Given the description of an element on the screen output the (x, y) to click on. 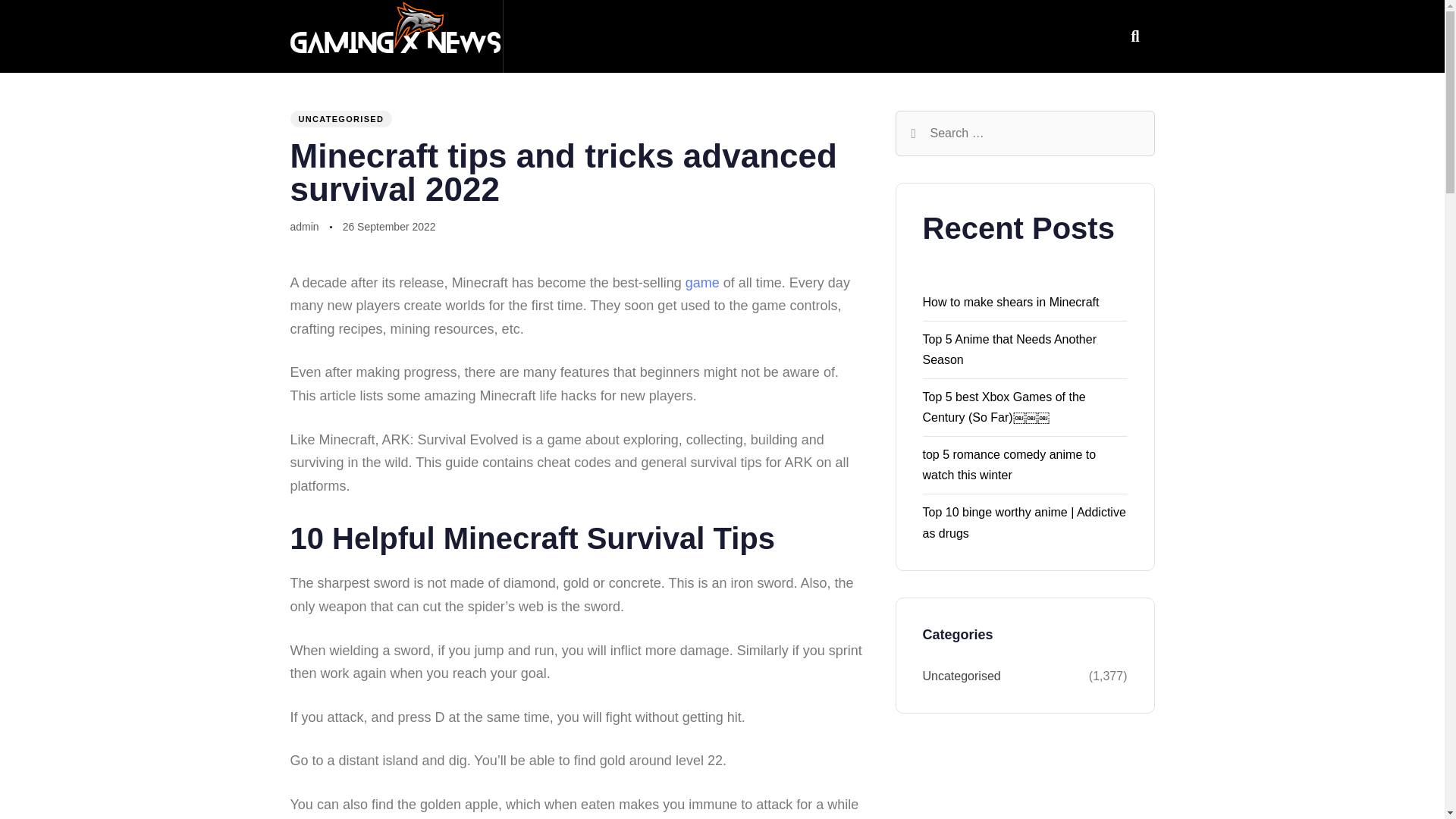
admin (303, 226)
How to make shears in Minecraft (1010, 301)
Posts by admin (303, 226)
Top 5 Anime that Needs Another Season (1008, 349)
top 5 romance comedy anime to watch this winter (1008, 464)
game (702, 282)
26 September 2022 (388, 227)
Uncategorised (1004, 675)
UNCATEGORISED (340, 118)
